Given the description of an element on the screen output the (x, y) to click on. 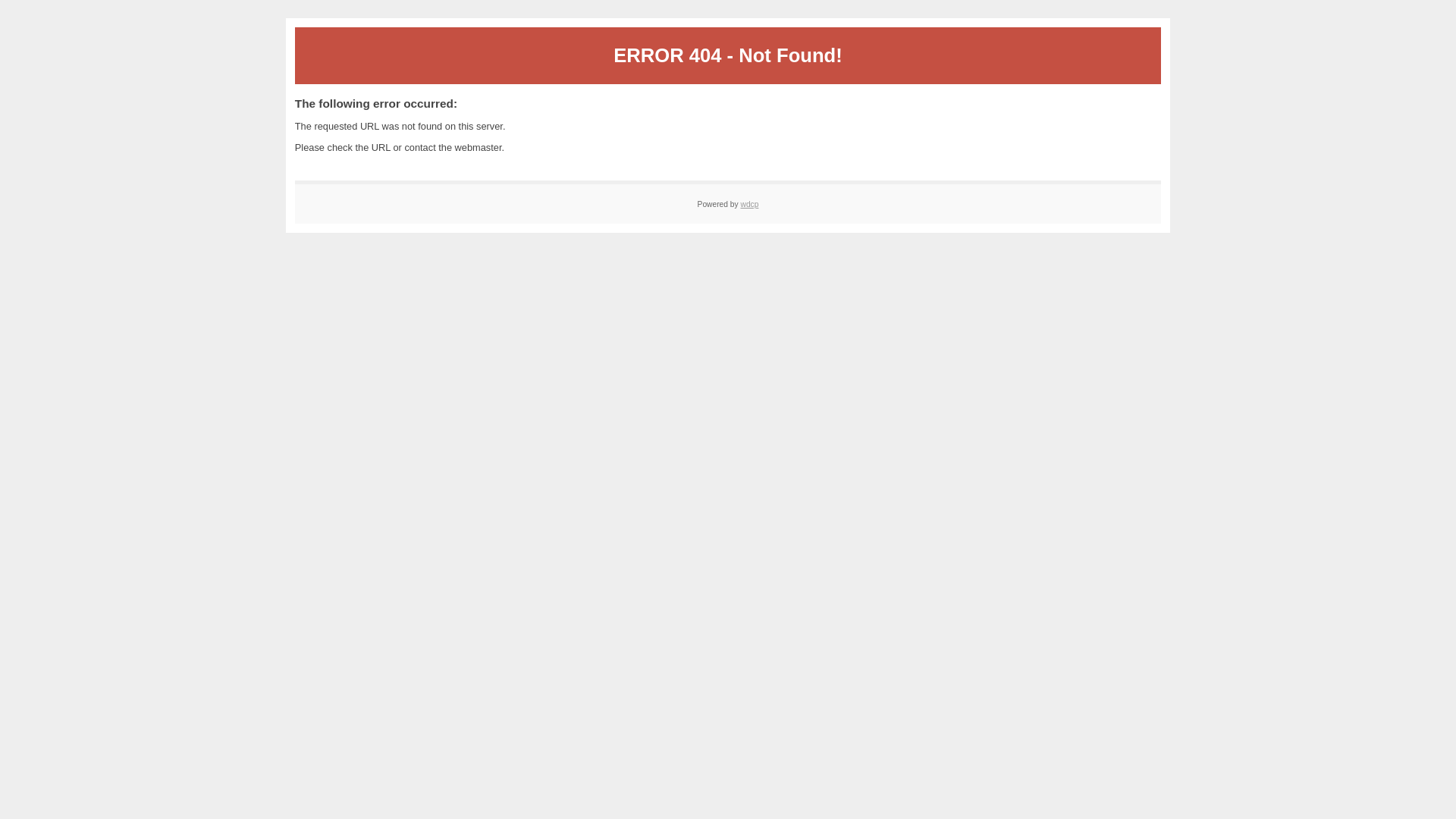
wdcp Element type: text (749, 204)
